Given the description of an element on the screen output the (x, y) to click on. 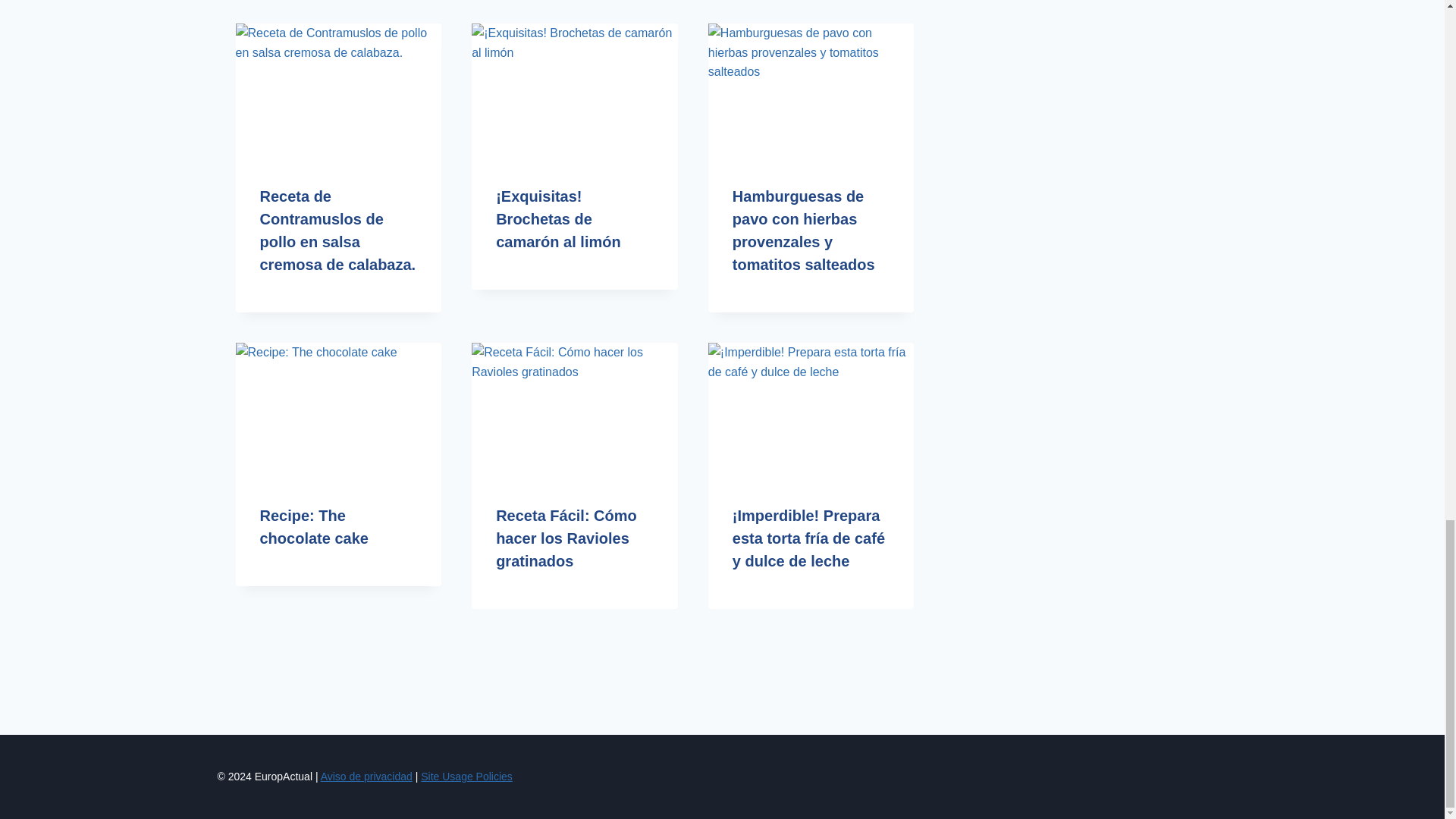
Recipe: The chocolate cake (313, 526)
